Given the description of an element on the screen output the (x, y) to click on. 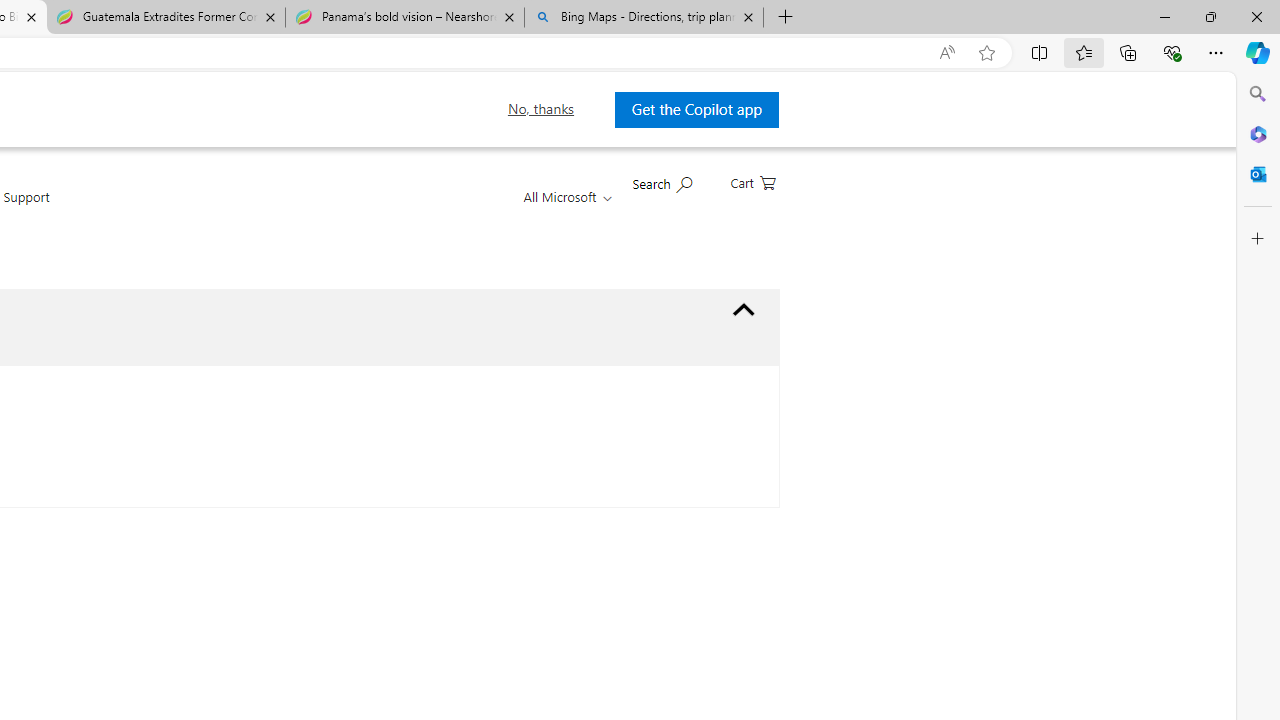
Microsoft 365 (1258, 133)
Search (1258, 94)
No, thanks (540, 109)
Get the Copilot app  (696, 109)
